Given the description of an element on the screen output the (x, y) to click on. 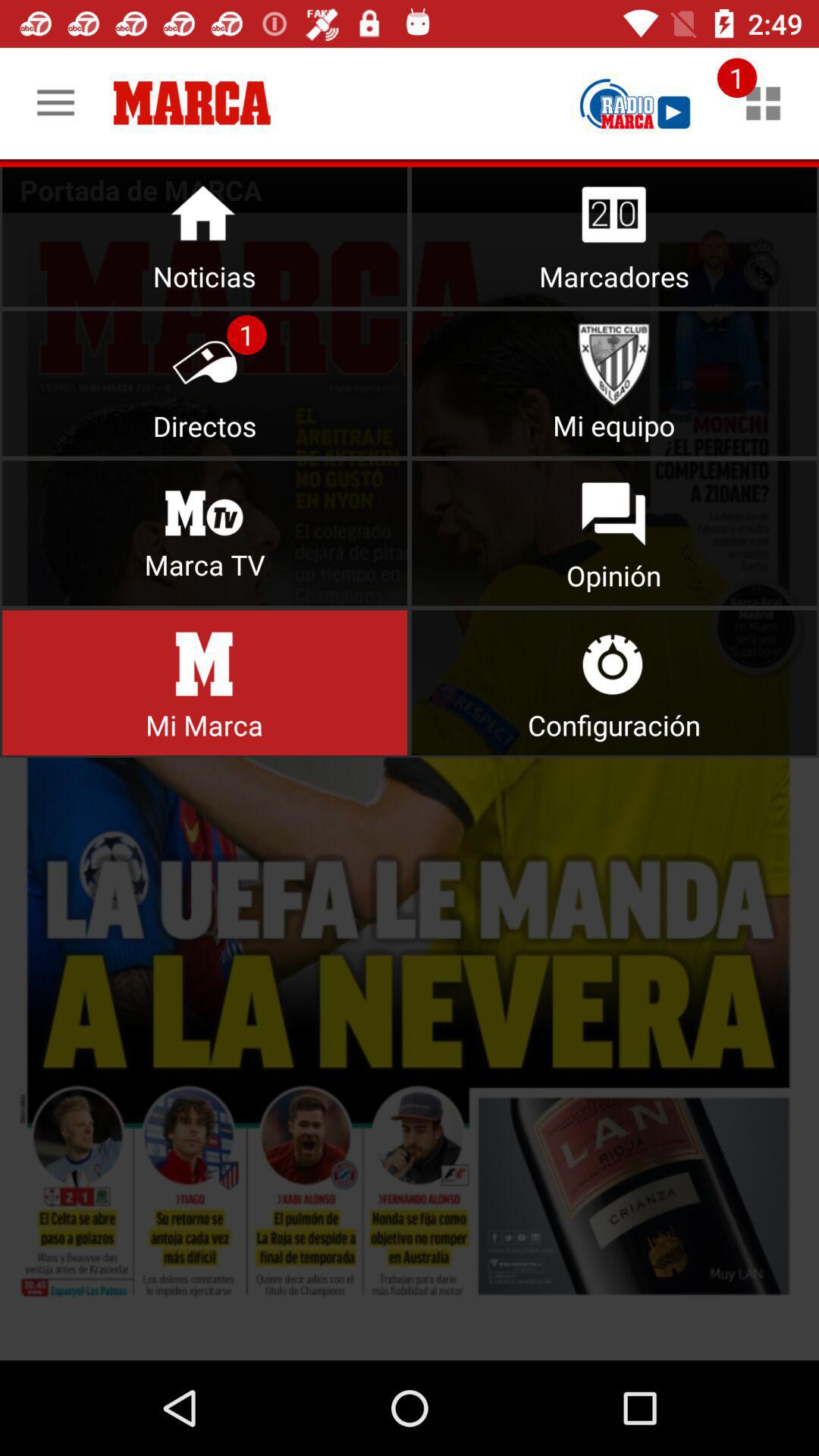
user preferences (614, 682)
